Given the description of an element on the screen output the (x, y) to click on. 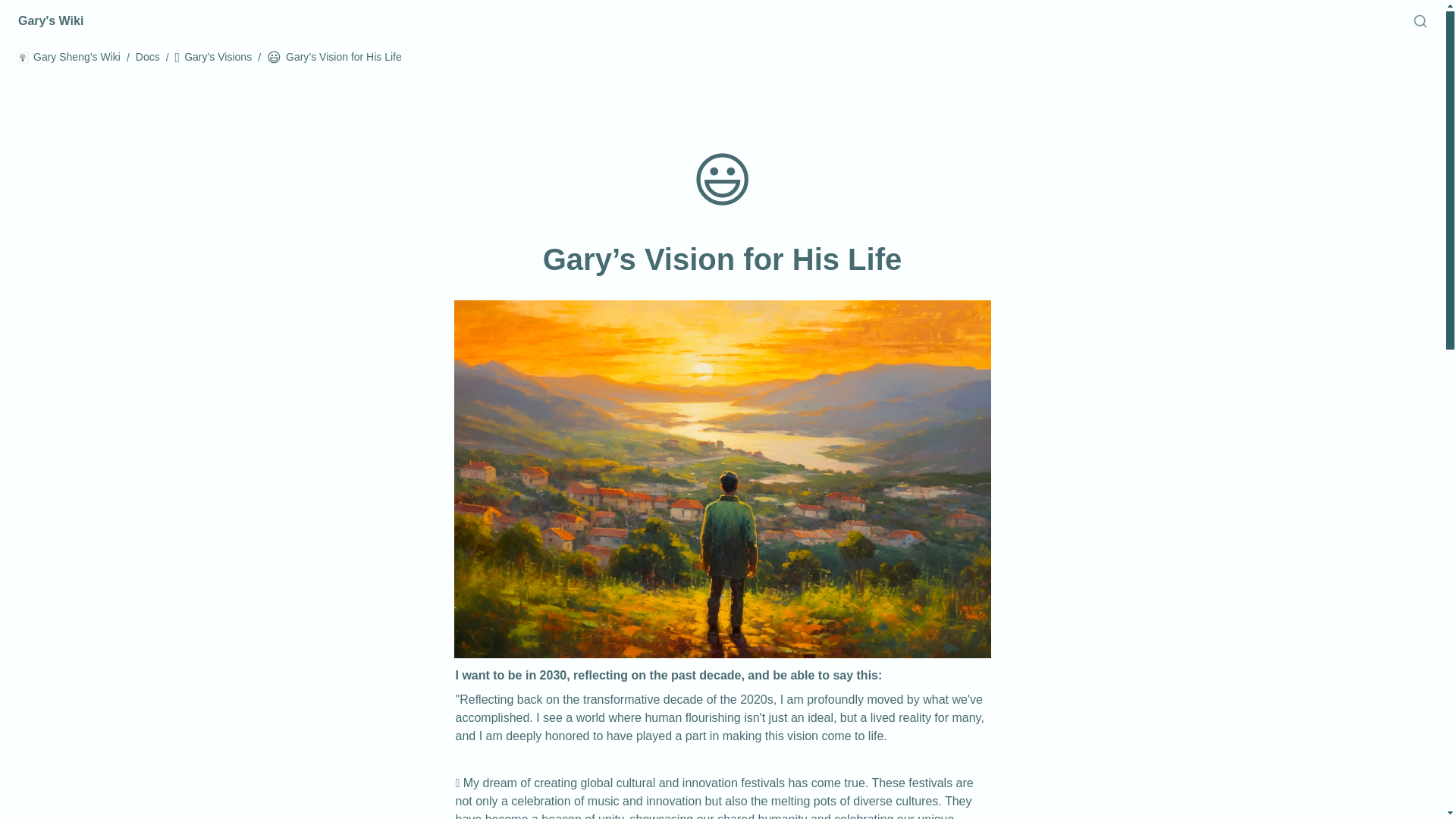
Gary's Wiki (50, 21)
Docs (147, 57)
